Given the description of an element on the screen output the (x, y) to click on. 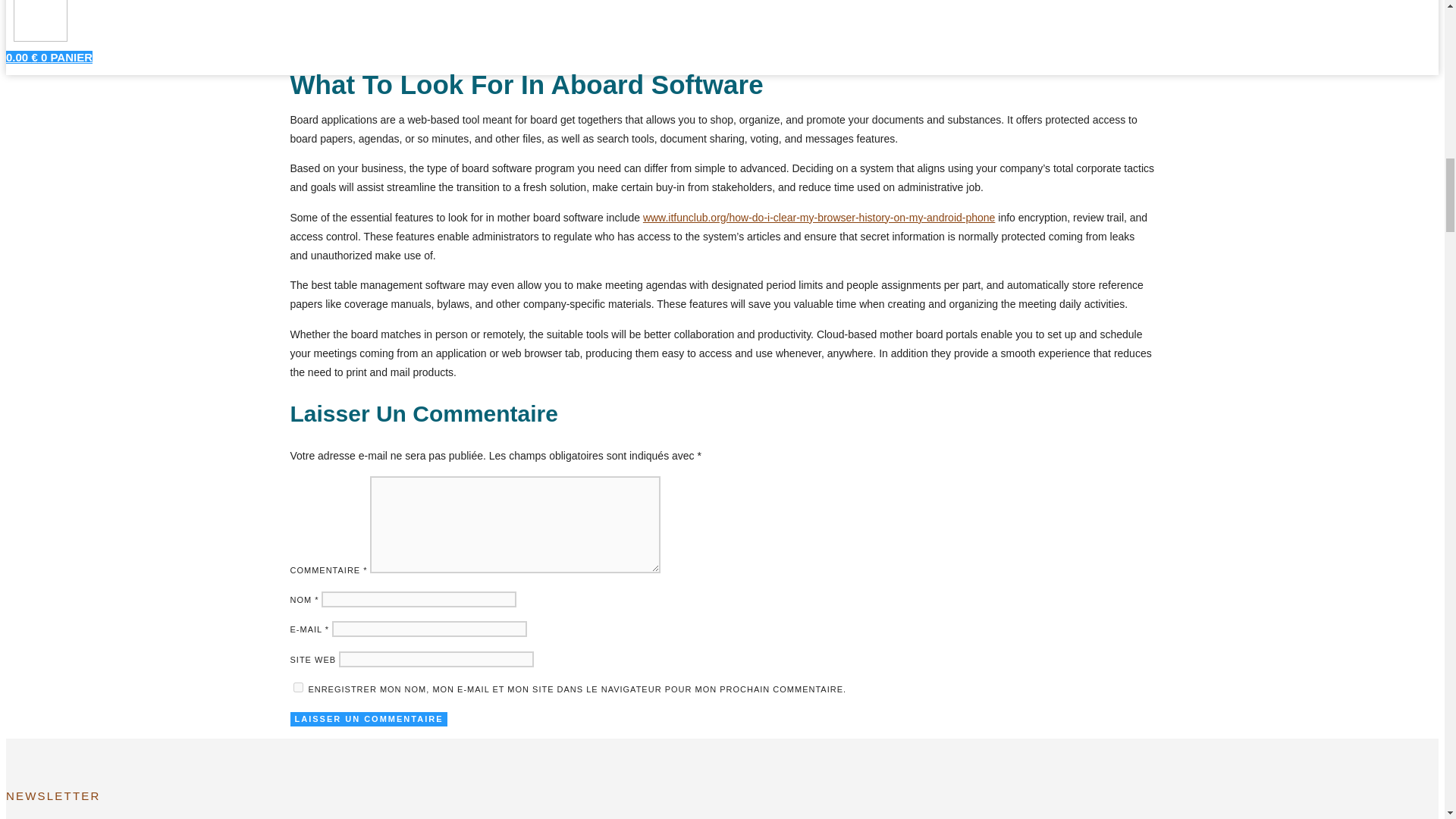
Laisser un commentaire (367, 718)
NEWSLETTER (244, 796)
yes (297, 687)
